Given the description of an element on the screen output the (x, y) to click on. 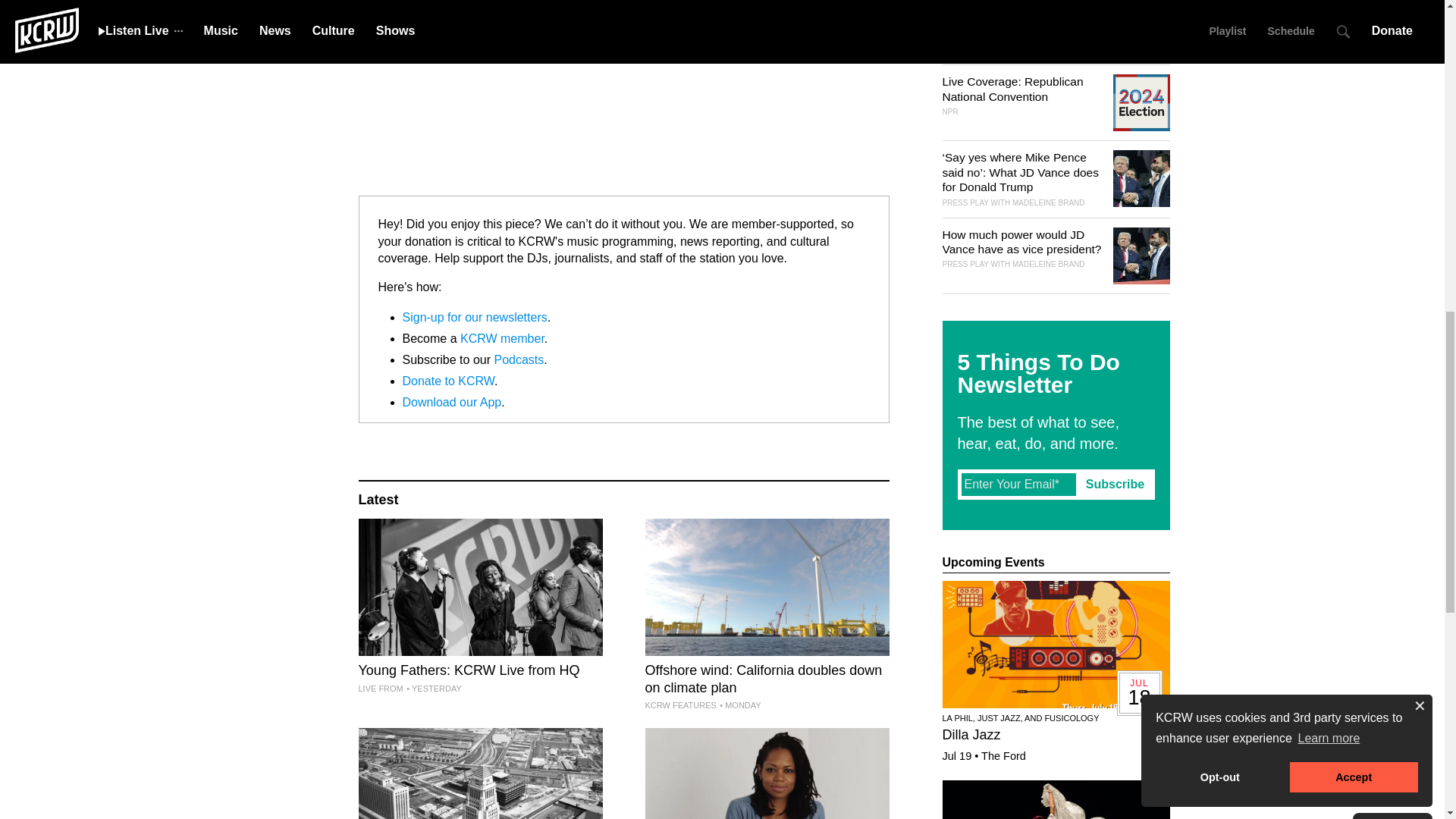
Tuesday, July 16th 2024, 10:00 pm (433, 687)
Music to make you feel. (766, 773)
Subscribe (1114, 484)
Monday, July 15th 2024, 3:00 pm (739, 705)
Sign-up for our newsletters (474, 317)
KCRW member (502, 338)
